Given the description of an element on the screen output the (x, y) to click on. 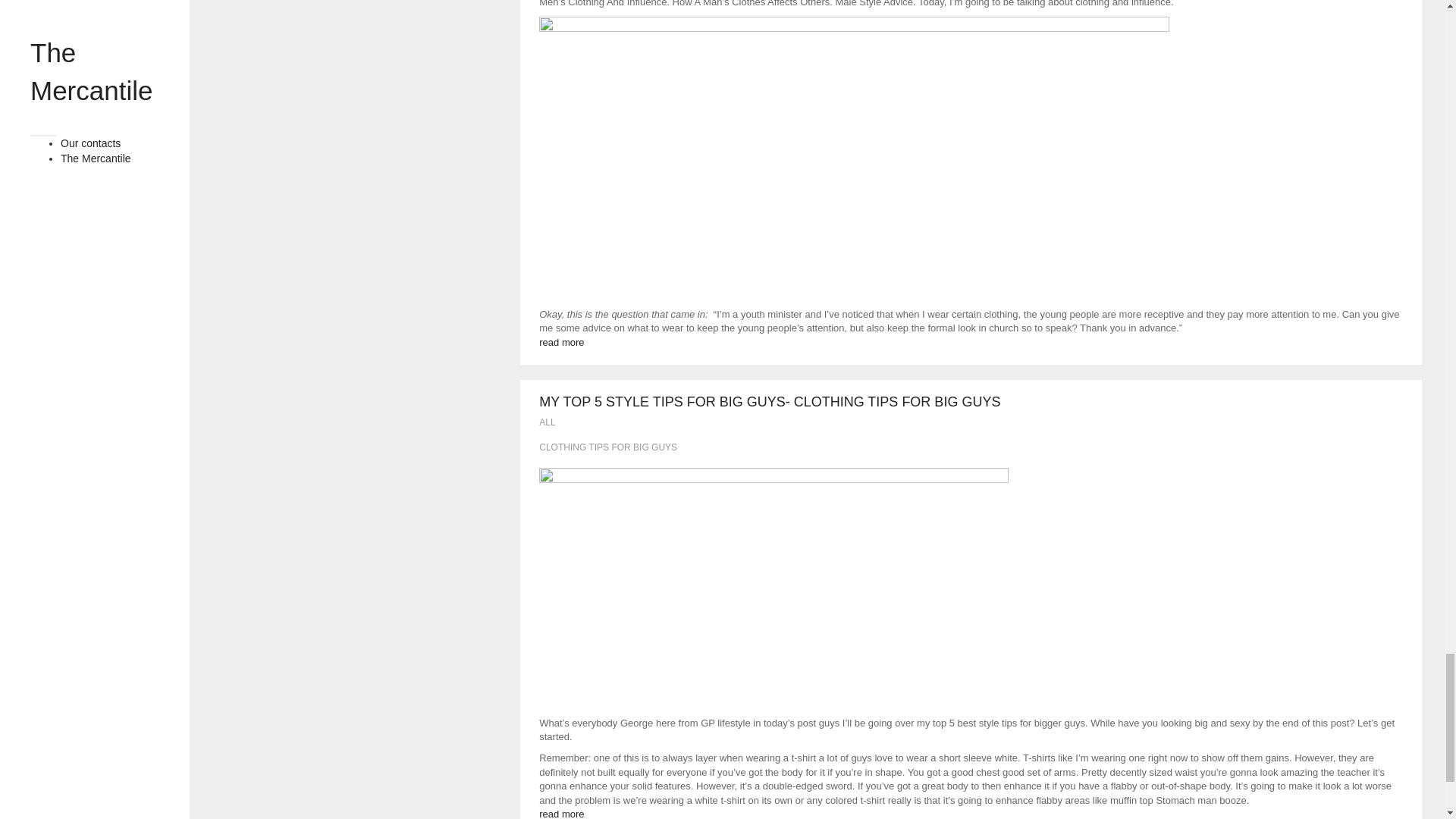
MY TOP 5 STYLE TIPS FOR BIG GUYS- CLOTHING TIPS FOR BIG GUYS (769, 401)
read more (560, 813)
ALL (546, 421)
read more (560, 342)
